Given the description of an element on the screen output the (x, y) to click on. 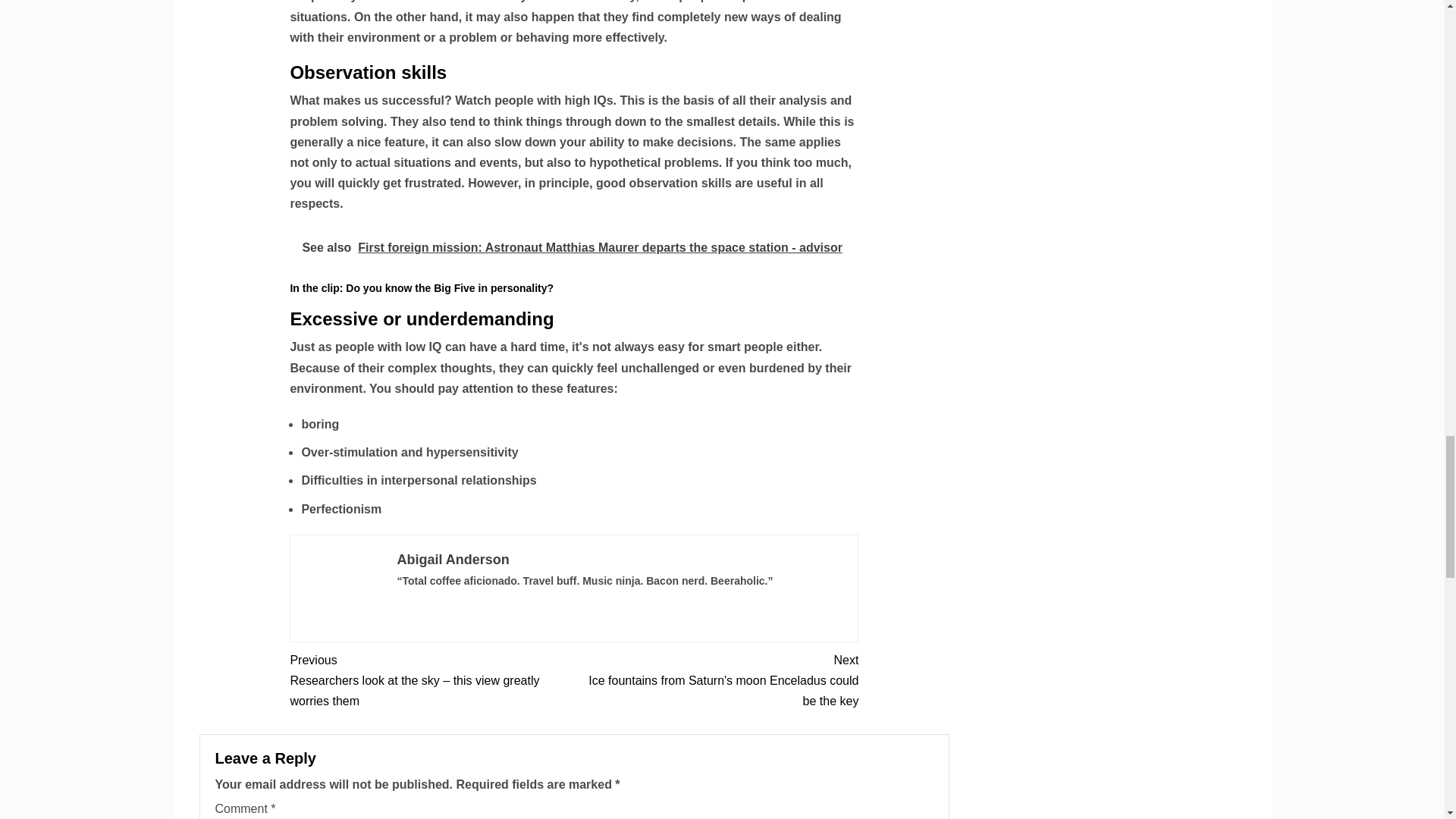
Abigail Anderson (452, 559)
